Given the description of an element on the screen output the (x, y) to click on. 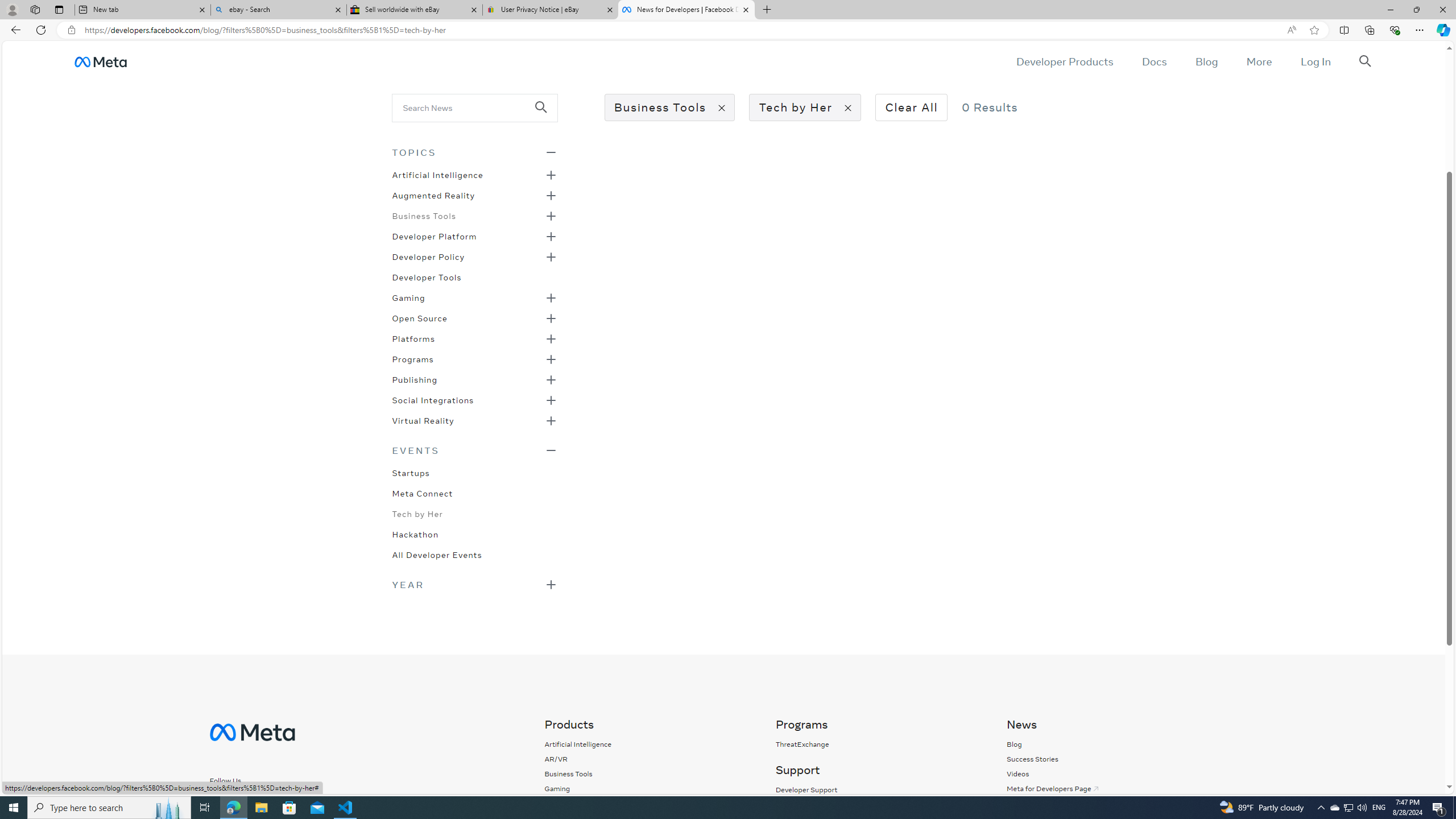
Sell worldwide with eBay (414, 9)
Publishing (414, 378)
Follow us on YouTube (313, 800)
Artificial Intelligence (437, 173)
Gaming (577, 788)
Blog (1014, 743)
Virtual Reality (422, 419)
Developer Tools (426, 276)
Developer Policy (428, 255)
